Given the description of an element on the screen output the (x, y) to click on. 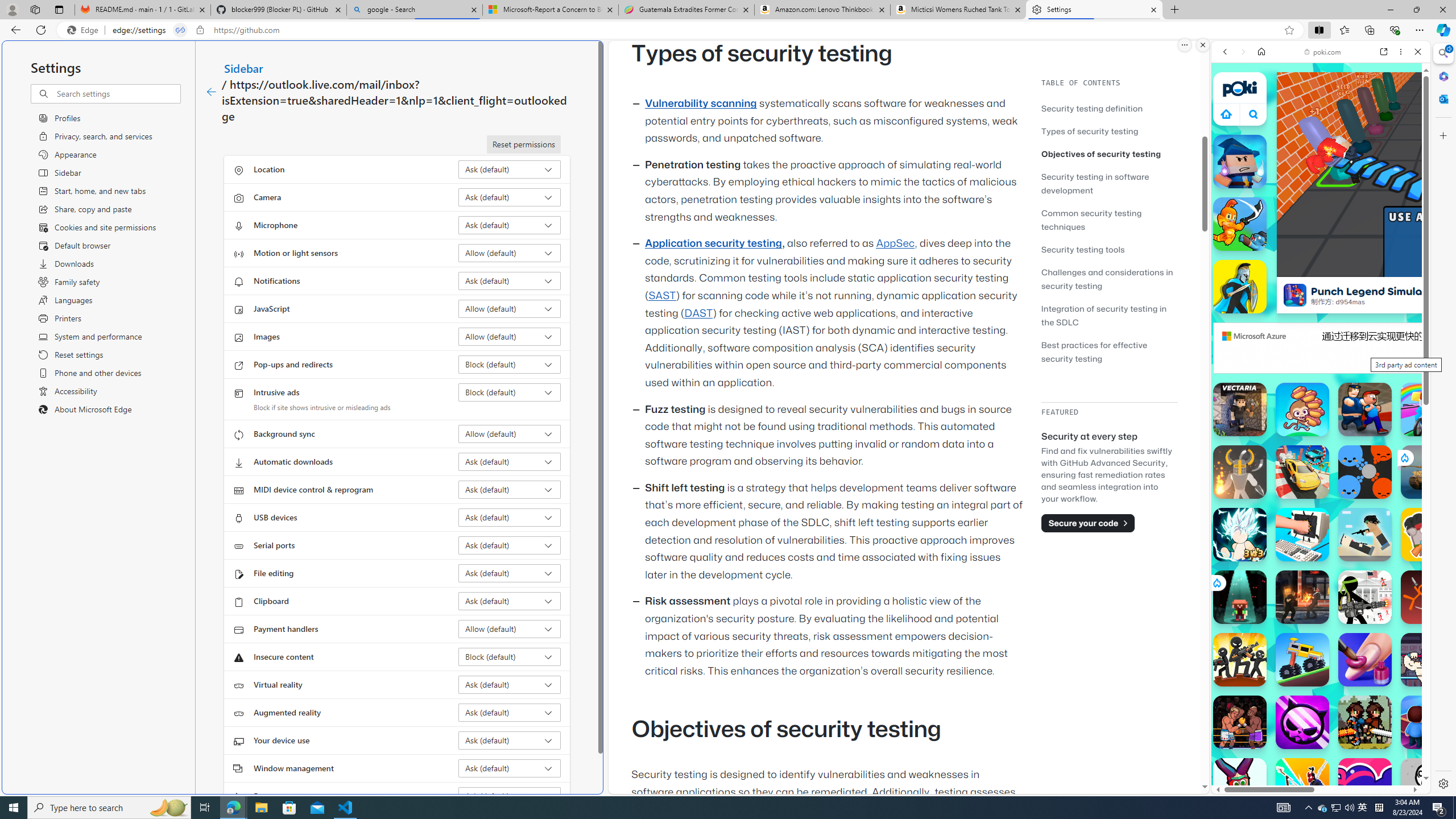
Automatic downloads Ask (default) (509, 461)
SAST (661, 295)
Hills of Steel (1264, 523)
Fury Wars Fury Wars (1302, 722)
Smash It Smash It (1302, 534)
Drive Mad (1302, 659)
Application security testing (713, 243)
Edge (84, 29)
Serial ports Ask (default) (509, 545)
